Given the description of an element on the screen output the (x, y) to click on. 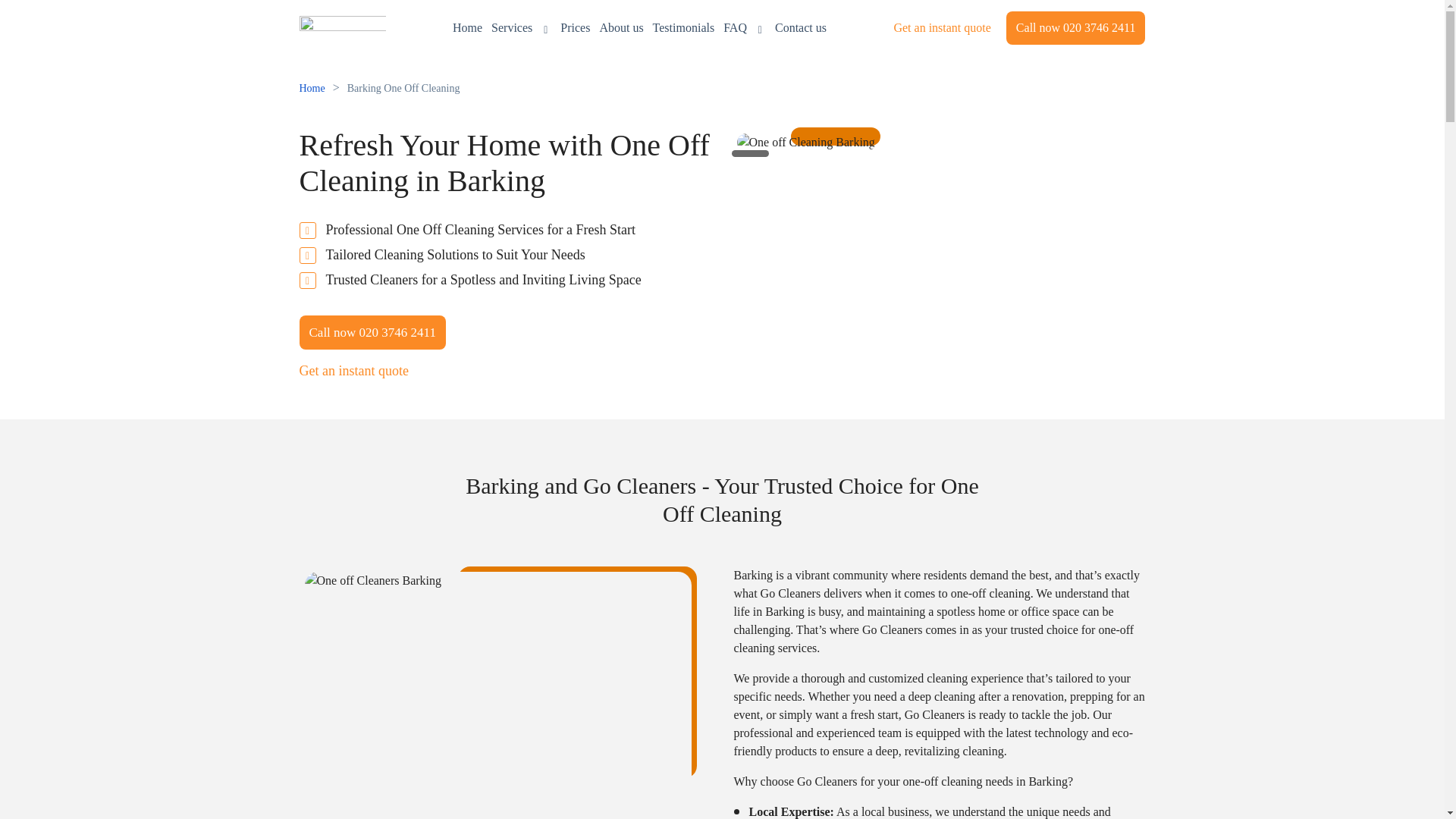
Services (521, 27)
FAQ (744, 27)
About Go Cleaners (620, 27)
About us (620, 27)
Prices (574, 27)
Call Go Cleaners on 020 3746 2411 (1075, 28)
Call Go Cleaners on 020 3746 2411 (371, 332)
One off Cleaners Barking (497, 695)
One off Cleaning Barking (805, 142)
Get an instant quote (352, 371)
